Given the description of an element on the screen output the (x, y) to click on. 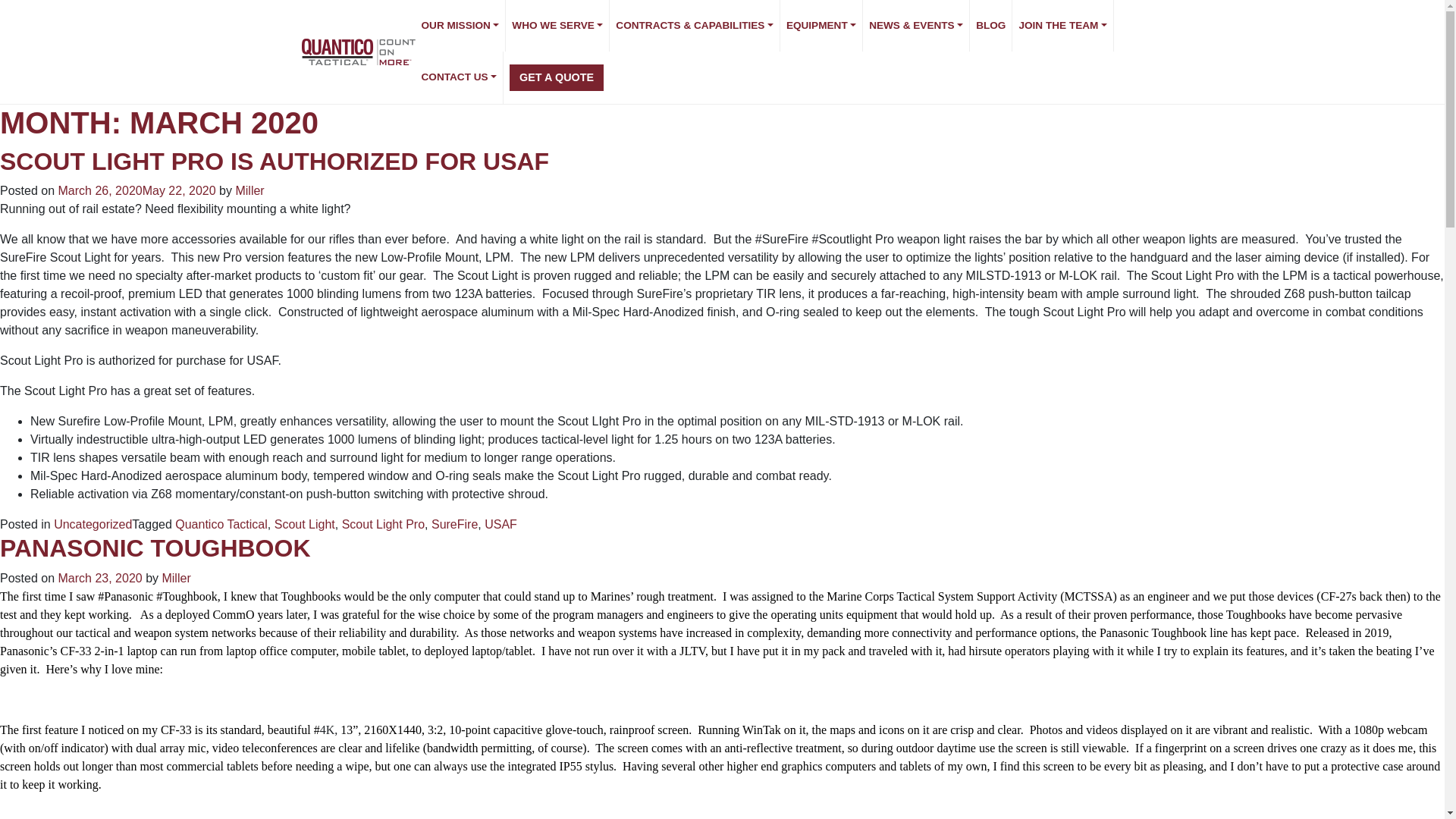
CONTACT US (458, 77)
Miller (248, 190)
Uncategorized (92, 523)
EQUIPMENT (821, 25)
OUR MISSION (460, 25)
JOIN THE TEAM (1062, 25)
WHO WE SERVE (557, 25)
GET A QUOTE (556, 77)
Who We Serve (557, 25)
Our Mission (460, 25)
Equipment (821, 25)
March 26, 2020May 22, 2020 (136, 190)
SCOUT LIGHT PRO IS AUTHORIZED FOR USAF (274, 161)
